Given the description of an element on the screen output the (x, y) to click on. 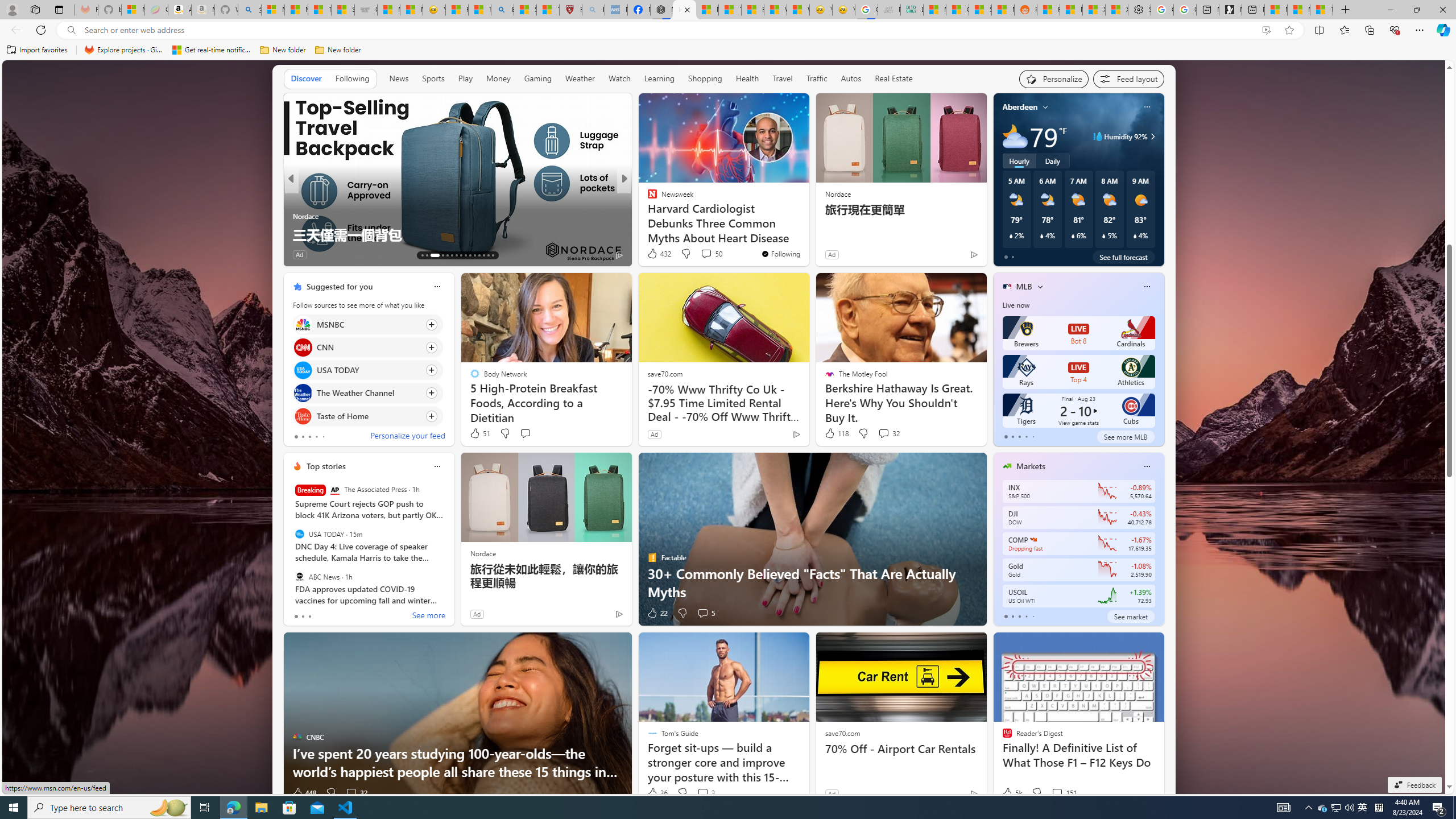
View comments 30 Comment (6, 254)
New folder (337, 49)
256 Like (654, 254)
5k Like (1010, 792)
51 Like (479, 433)
Weather (579, 78)
225 Like (304, 254)
Real Estate (893, 79)
CNN (302, 346)
View comments 104 Comment (703, 254)
Million Dollar Sense (647, 215)
Enhance video (1266, 29)
